Given the description of an element on the screen output the (x, y) to click on. 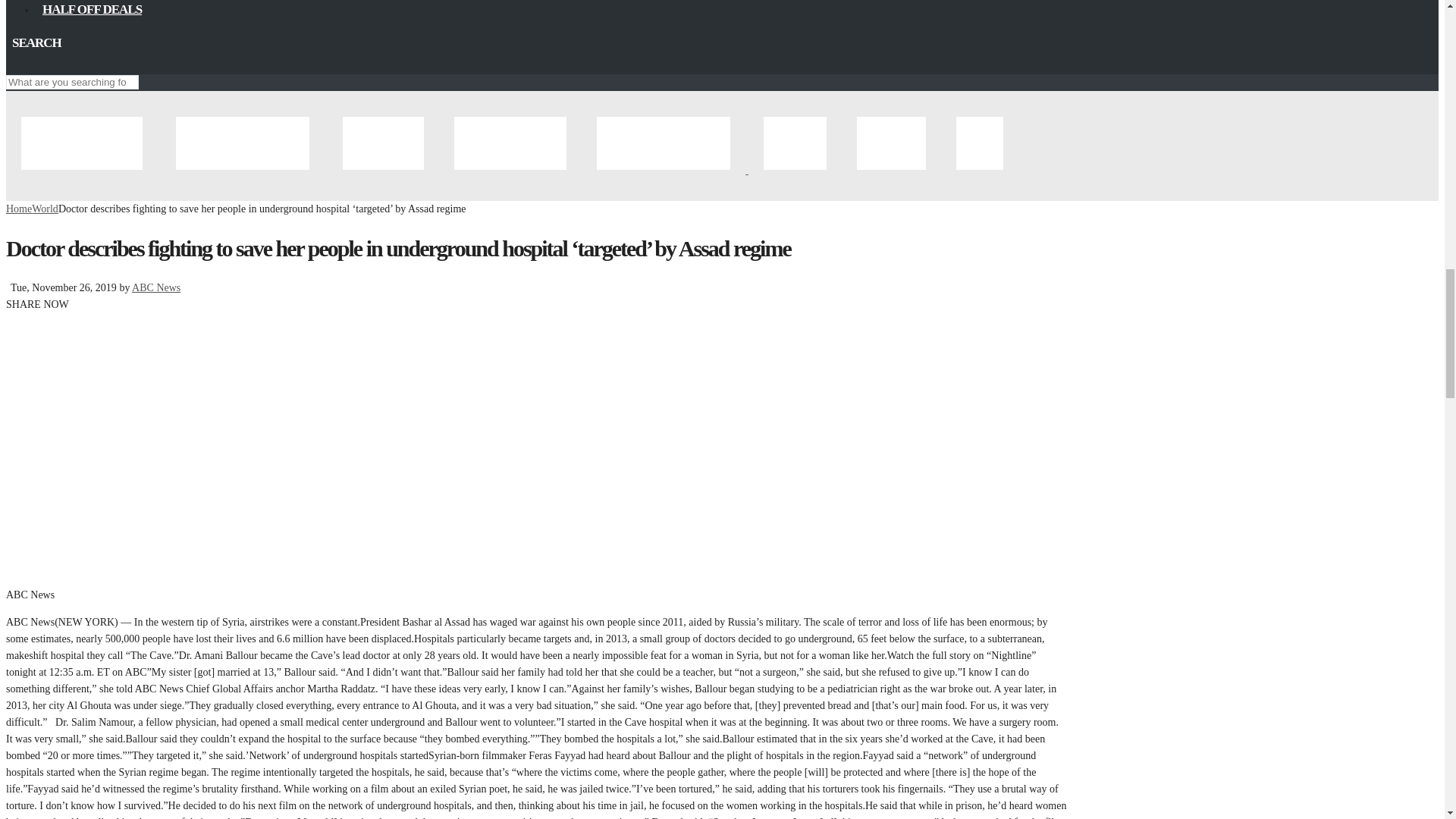
Search for: (71, 82)
Posts by ABC News (156, 287)
